Given the description of an element on the screen output the (x, y) to click on. 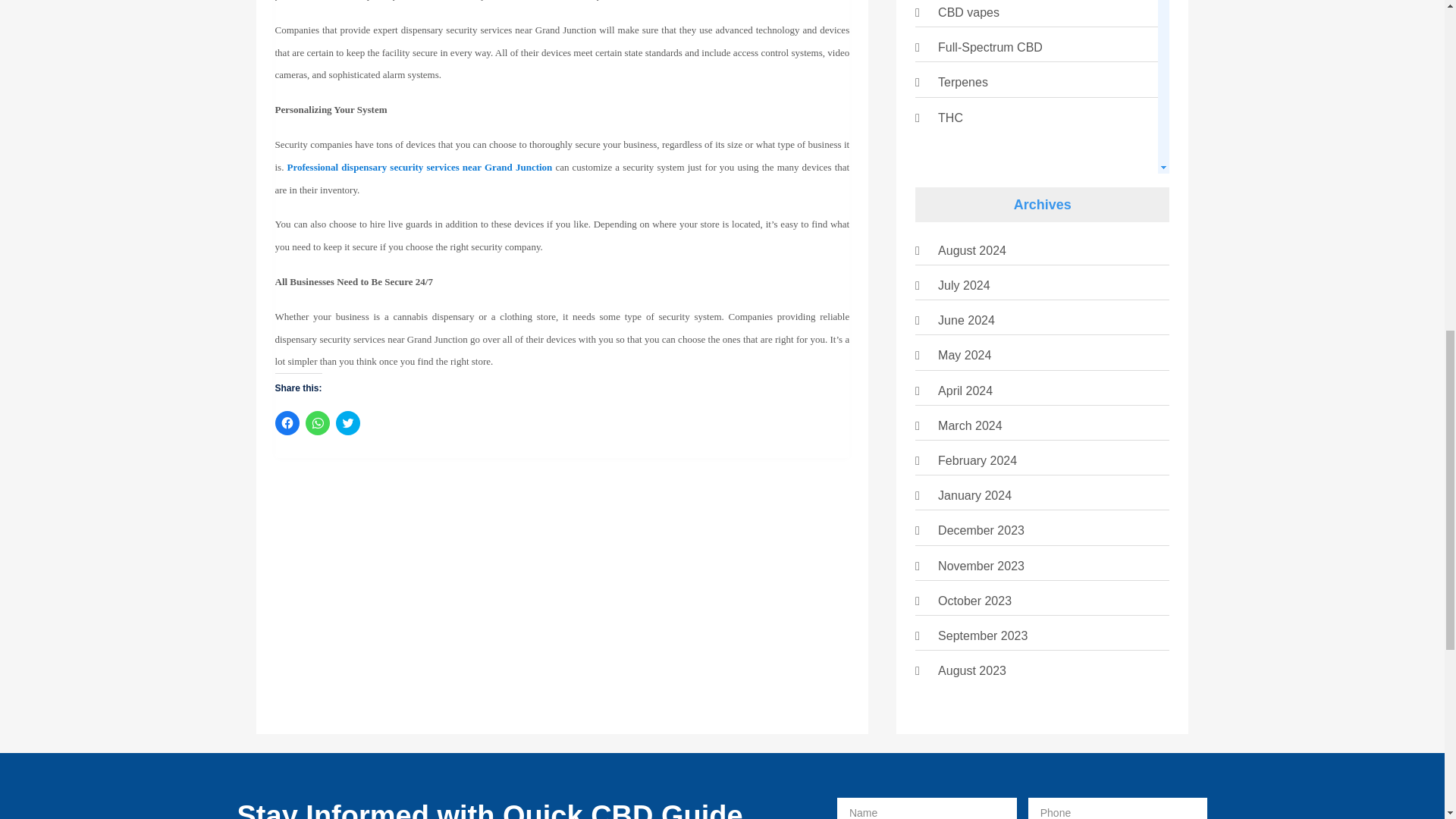
May 2024 (964, 354)
August 2024 (971, 250)
Terpenes (962, 82)
CBD vapes (967, 11)
dispensary security services near Grand Junction (445, 165)
March 2024 (970, 425)
Click to share on Twitter (346, 422)
Full-Spectrum CBD (989, 47)
THC (949, 117)
April 2024 (964, 390)
